Given the description of an element on the screen output the (x, y) to click on. 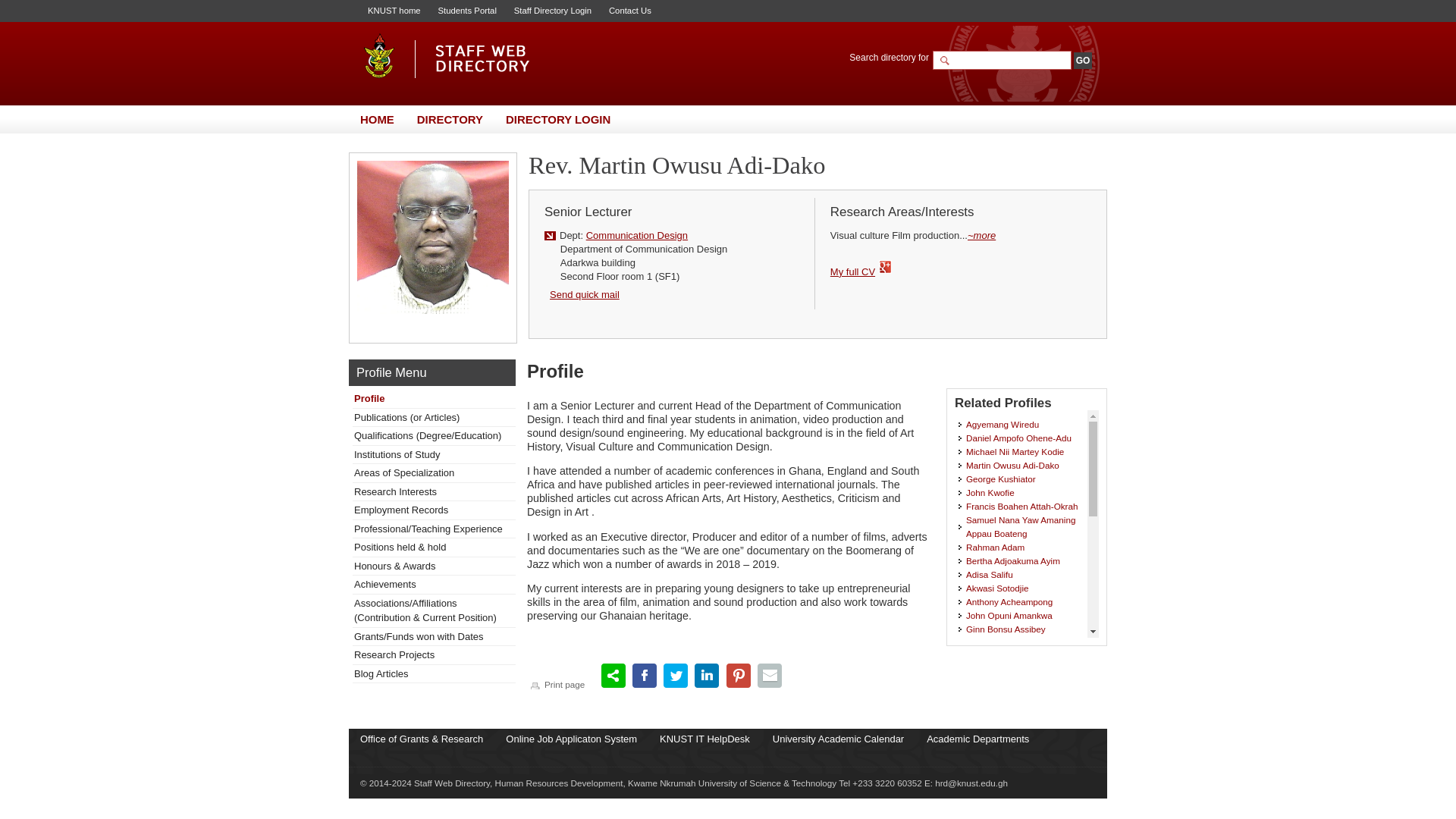
Communication Design (636, 234)
Students Portal (467, 10)
Blog Articles (381, 672)
Download doc (852, 270)
Staff Web Directory, KNUST (446, 55)
Areas of Specialization (403, 472)
My full CV (852, 270)
Send a Mail to Martin Owusu, Rev. Adi-Dako (582, 294)
More Information (981, 234)
Directory Access (552, 10)
GO (1083, 60)
Employment Records (400, 509)
KNUST home (394, 10)
Institutions of Study (396, 454)
Contact Us (629, 10)
